Given the description of an element on the screen output the (x, y) to click on. 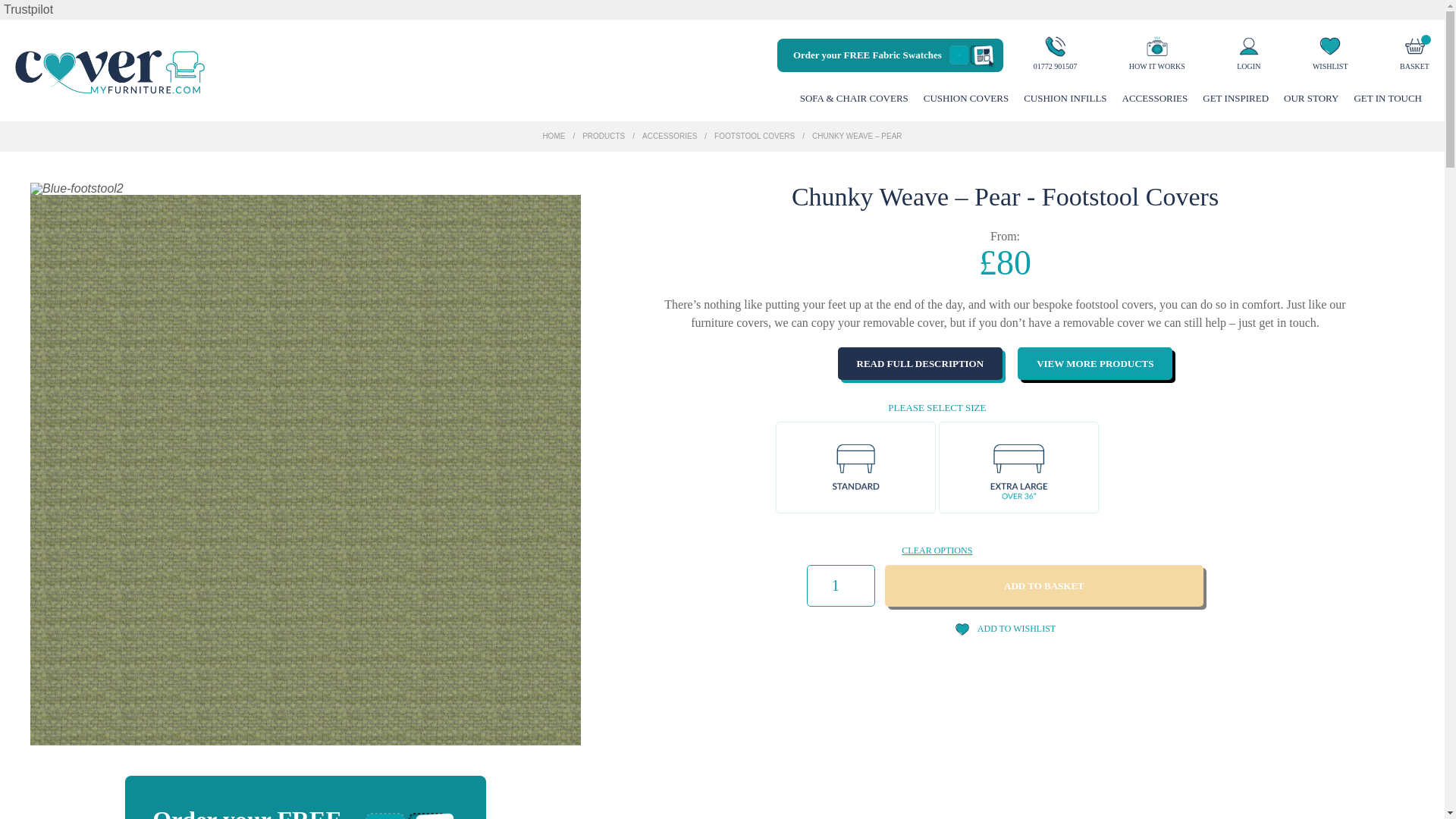
Extra Large Footstool (1018, 467)
Standard Footstool (855, 467)
Qty (840, 585)
1 (840, 585)
Trustpilot (28, 9)
